Given the description of an element on the screen output the (x, y) to click on. 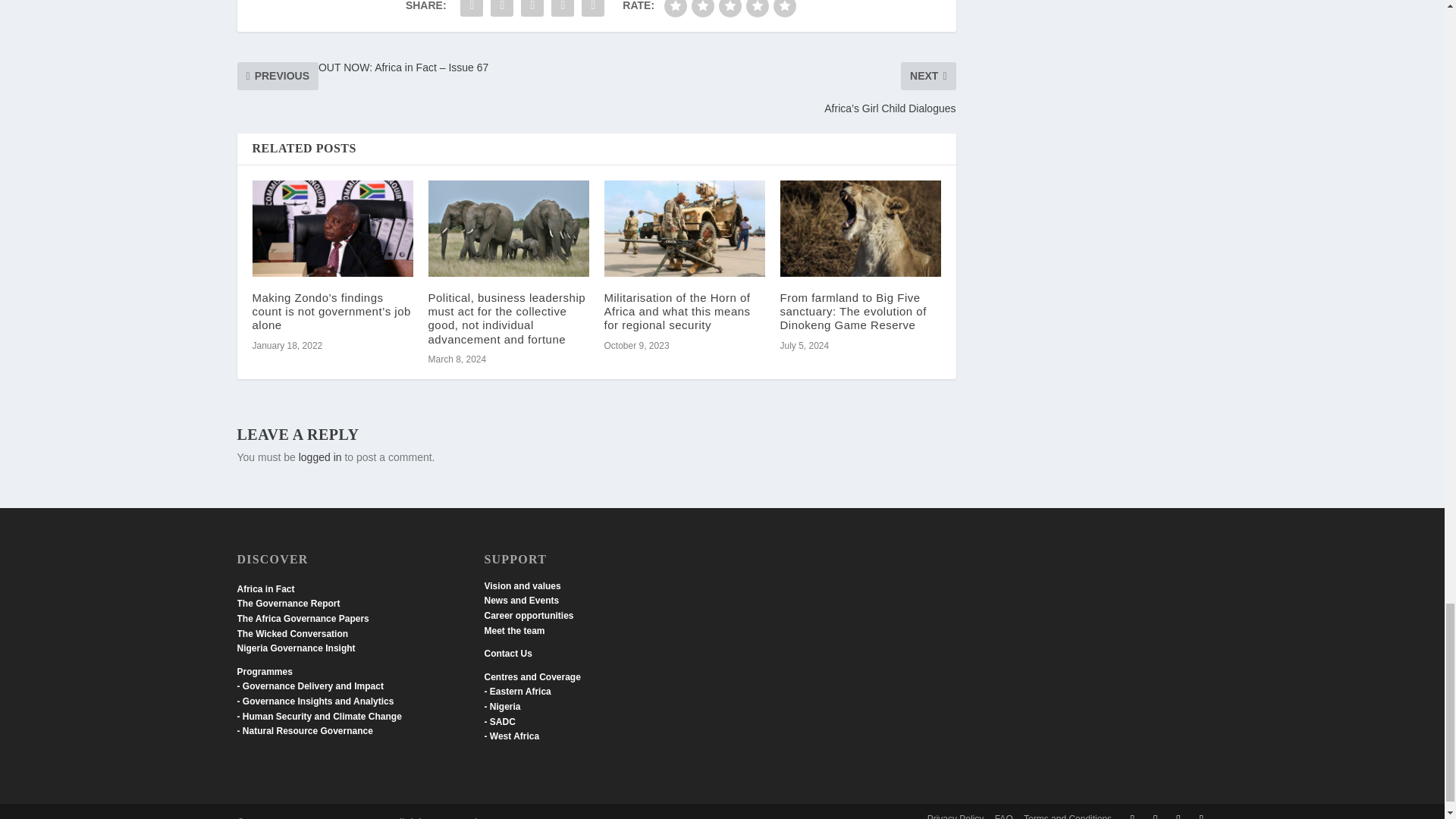
gorgeous (784, 8)
Share "Why data matters for governance" via LinkedIn (531, 10)
regular (730, 8)
good (756, 8)
Share "Why data matters for governance" via Facebook (471, 10)
bad (675, 8)
poor (702, 8)
Share "Why data matters for governance" via Twitter (501, 10)
Share "Why data matters for governance" via Email (593, 10)
Share "Why data matters for governance" via Stumbleupon (562, 10)
